Given the description of an element on the screen output the (x, y) to click on. 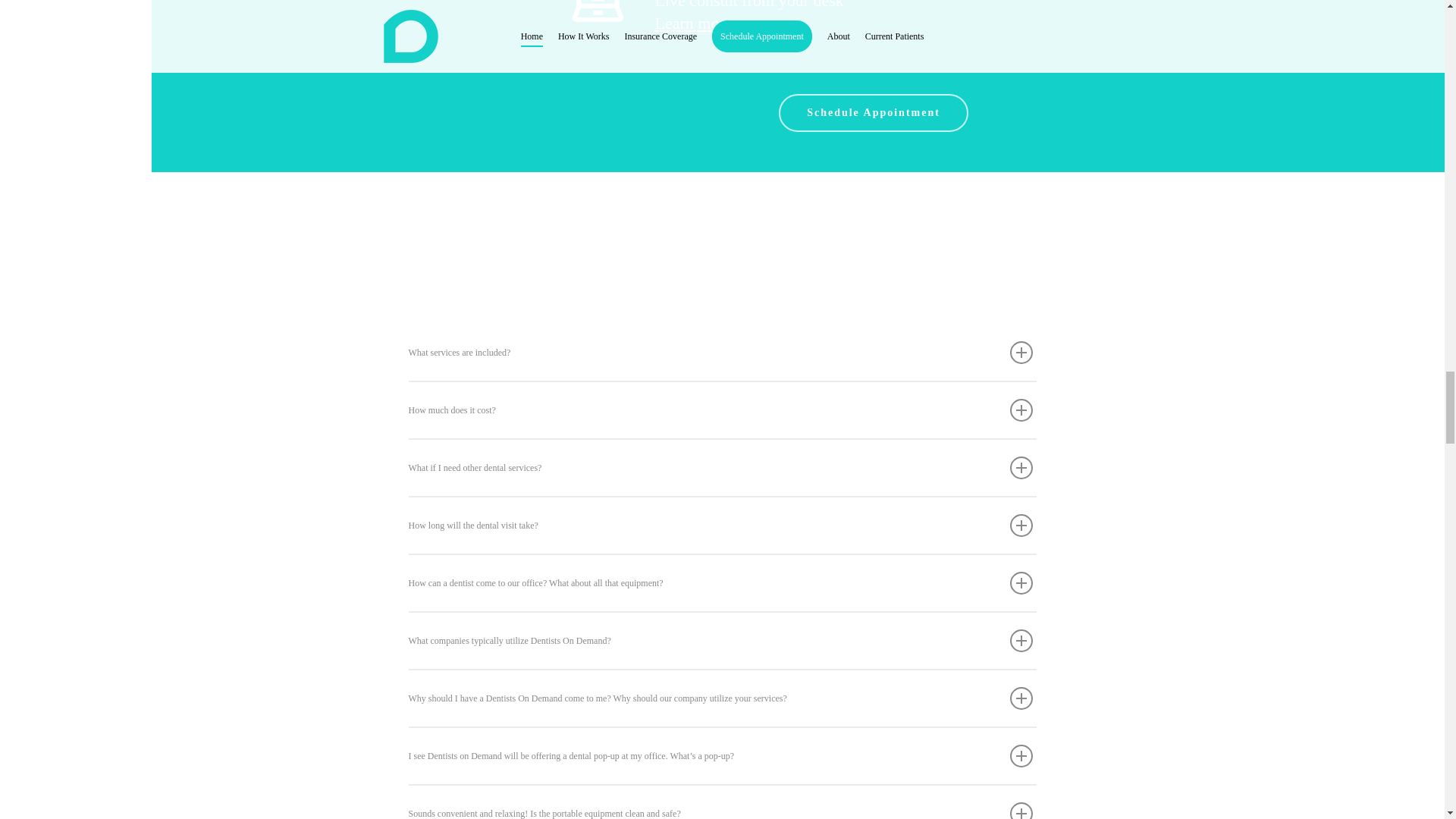
How much does it cost? (721, 410)
How long will the dental visit take? (721, 525)
Schedule Appointment (873, 112)
Learn more (749, 34)
What services are included? (721, 352)
What if I need other dental services? (721, 467)
What companies typically utilize Dentists On Demand? (721, 640)
